Given the description of an element on the screen output the (x, y) to click on. 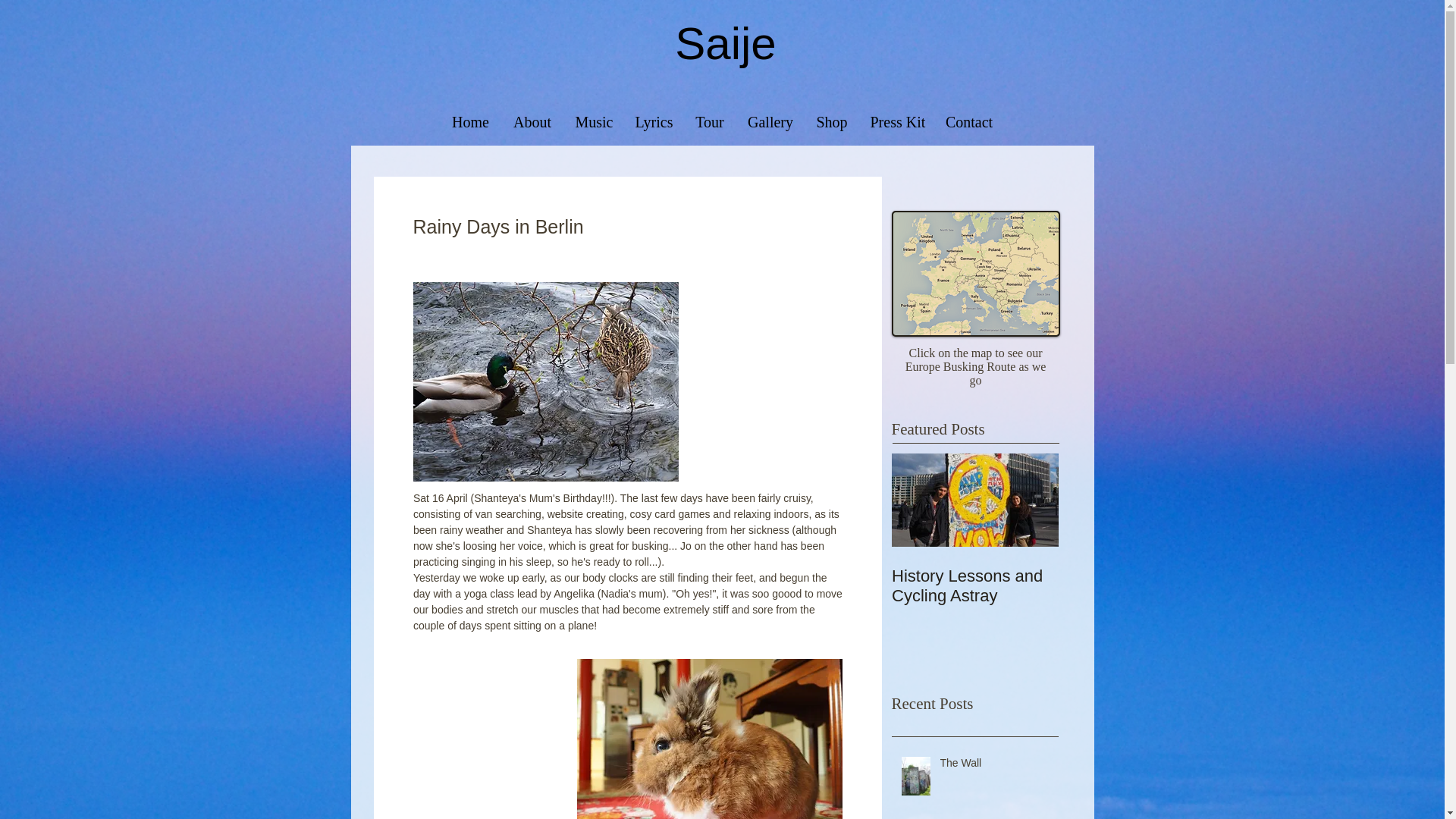
The Wall (994, 766)
Home (469, 121)
History Lessons and Cycling Astray (974, 586)
Gallery (770, 121)
Shop (832, 121)
Press Kit (896, 121)
Lyrics (652, 121)
Tour (710, 121)
Music (594, 121)
Contact (969, 121)
About (531, 121)
